Given the description of an element on the screen output the (x, y) to click on. 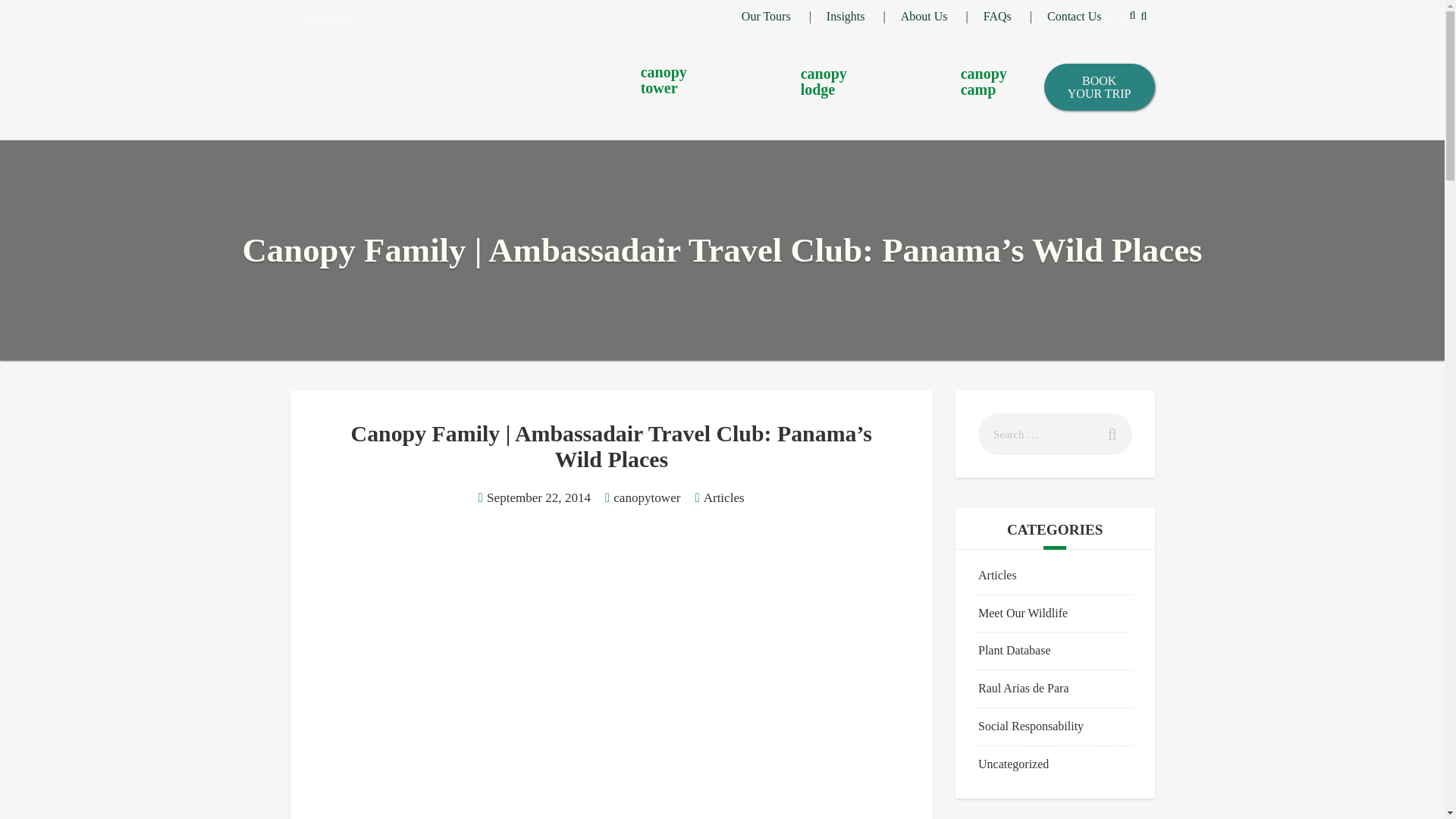
About Us (954, 88)
Our Tours (924, 15)
Contact Us (633, 87)
FAQs (765, 15)
The Canopy Family (1074, 15)
Insights (997, 15)
